Given the description of an element on the screen output the (x, y) to click on. 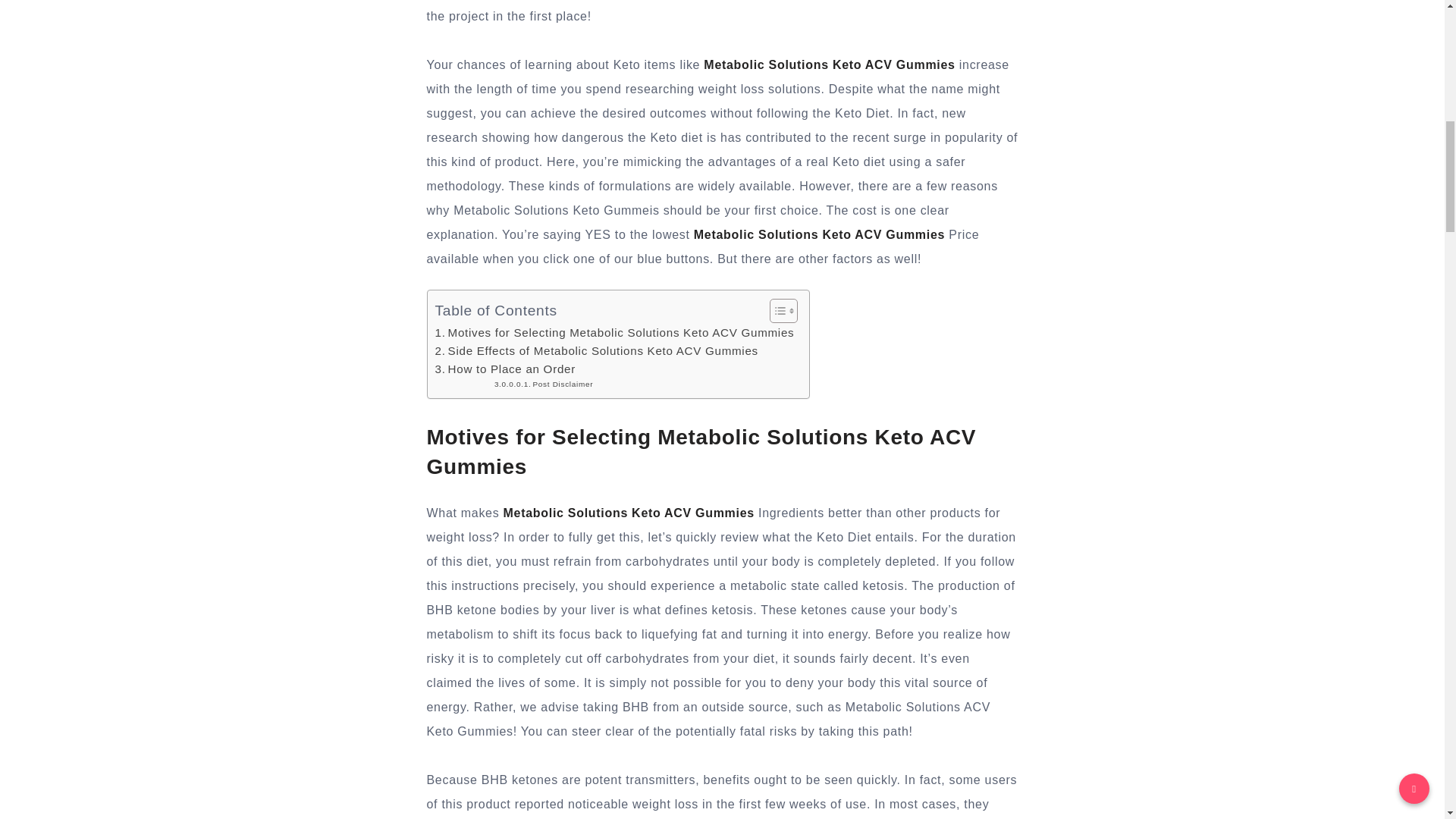
Side Effects of Metabolic Solutions Keto ACV Gummies (596, 351)
How to Place an Order (505, 369)
Post Disclaimer (543, 384)
How to Place an Order (505, 369)
Motives for Selecting Metabolic Solutions Keto ACV Gummies (614, 332)
Side Effects of Metabolic Solutions Keto ACV Gummies (596, 351)
Motives for Selecting Metabolic Solutions Keto ACV Gummies (614, 332)
Post Disclaimer (543, 384)
